Given the description of an element on the screen output the (x, y) to click on. 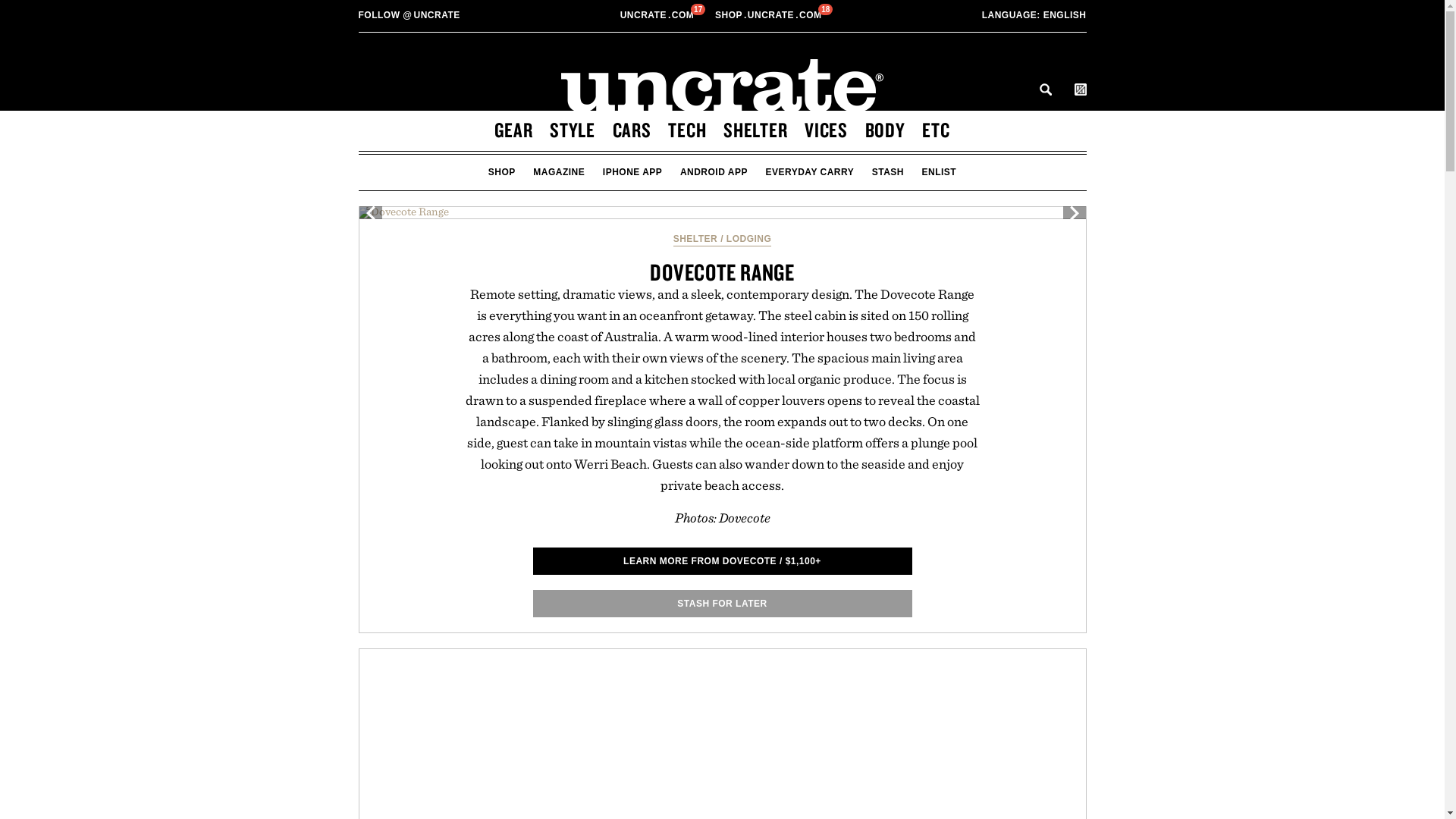
Dovecote Range (722, 212)
Dovecote Range (769, 14)
3rd party ad content (179, 212)
LANGUAGE: ENGLISH (658, 14)
